Given the description of an element on the screen output the (x, y) to click on. 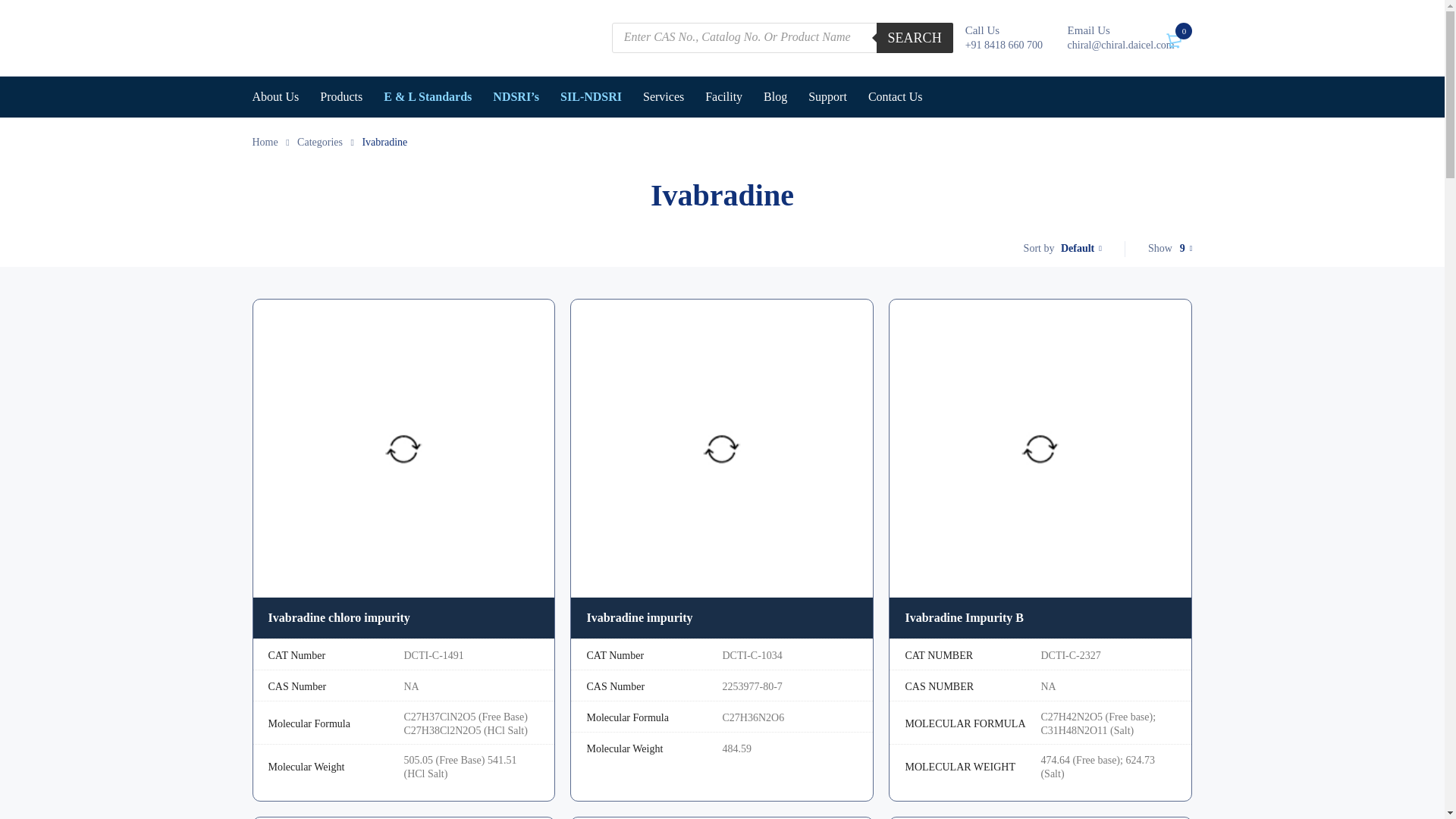
About Us (274, 96)
Products (341, 96)
Blog (774, 96)
Services (663, 96)
Categories (319, 142)
SIL-NDSRI (590, 96)
Support (827, 96)
Contact Us (895, 96)
Facility (723, 96)
Home (264, 142)
